Given the description of an element on the screen output the (x, y) to click on. 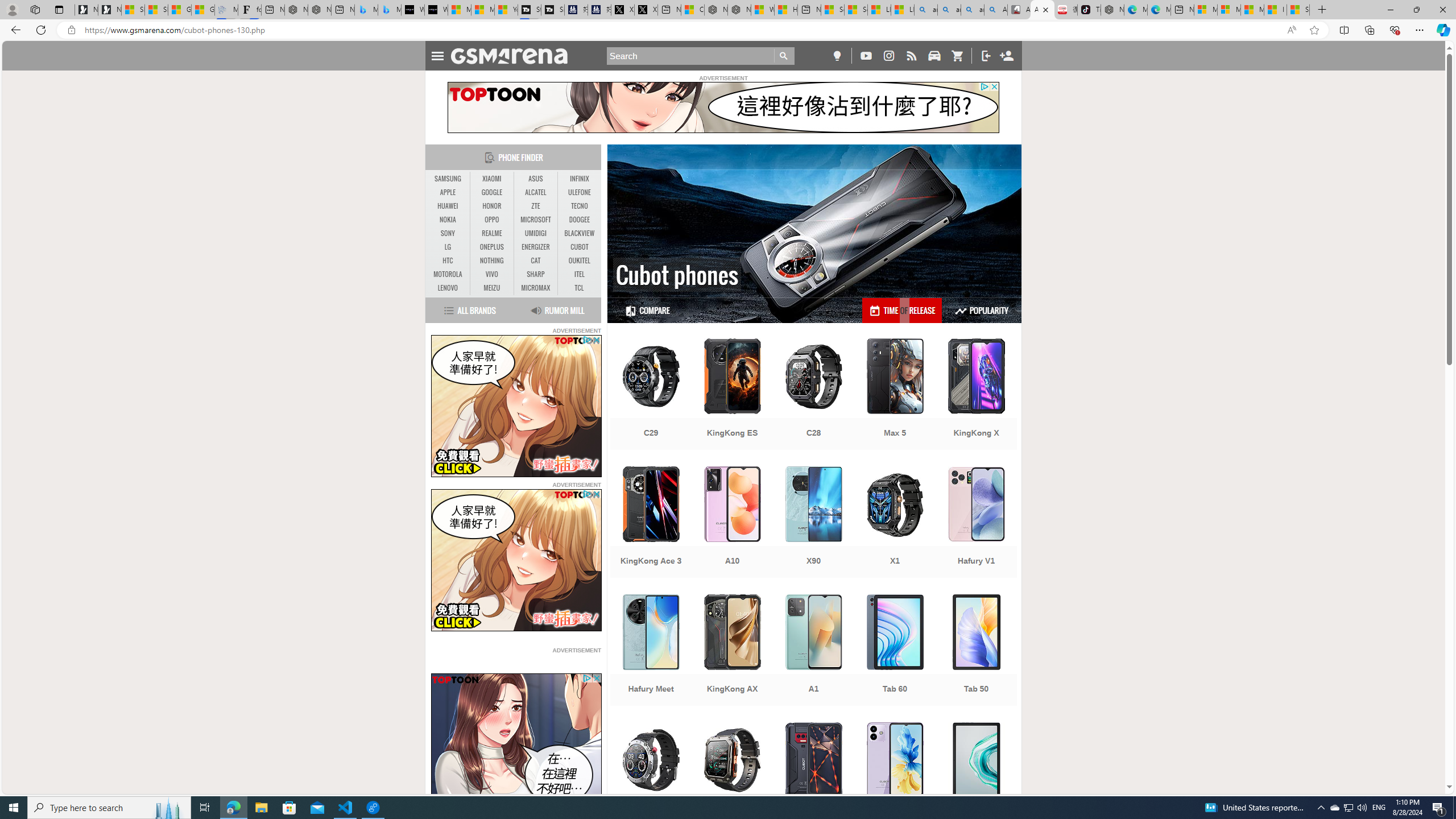
NOTHING (491, 260)
ITEL (579, 273)
Streaming Coverage | T3 (529, 9)
MICROSOFT (535, 219)
UMIDIGI (535, 233)
ENERGIZER (535, 246)
